Given the description of an element on the screen output the (x, y) to click on. 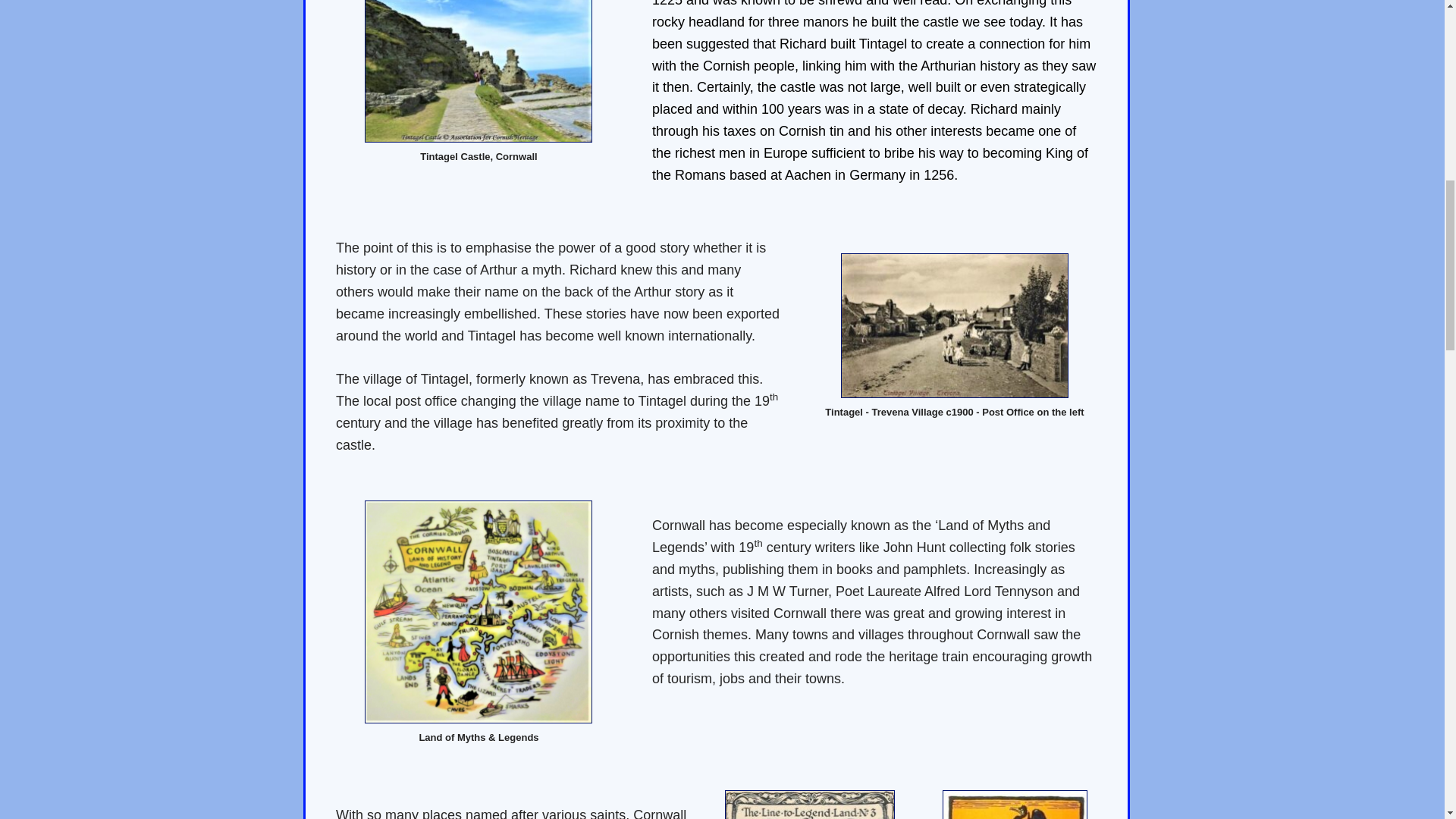
EARLY CORNISH LOOE LEGENDS POSTCARDS - St Piran (1014, 804)
Tintagel - Trevena Village c1900 (954, 325)
The Line to Legend Land No'3 - St Piran (810, 804)
Tintagel Castle, Cornwall (478, 71)
